Given the description of an element on the screen output the (x, y) to click on. 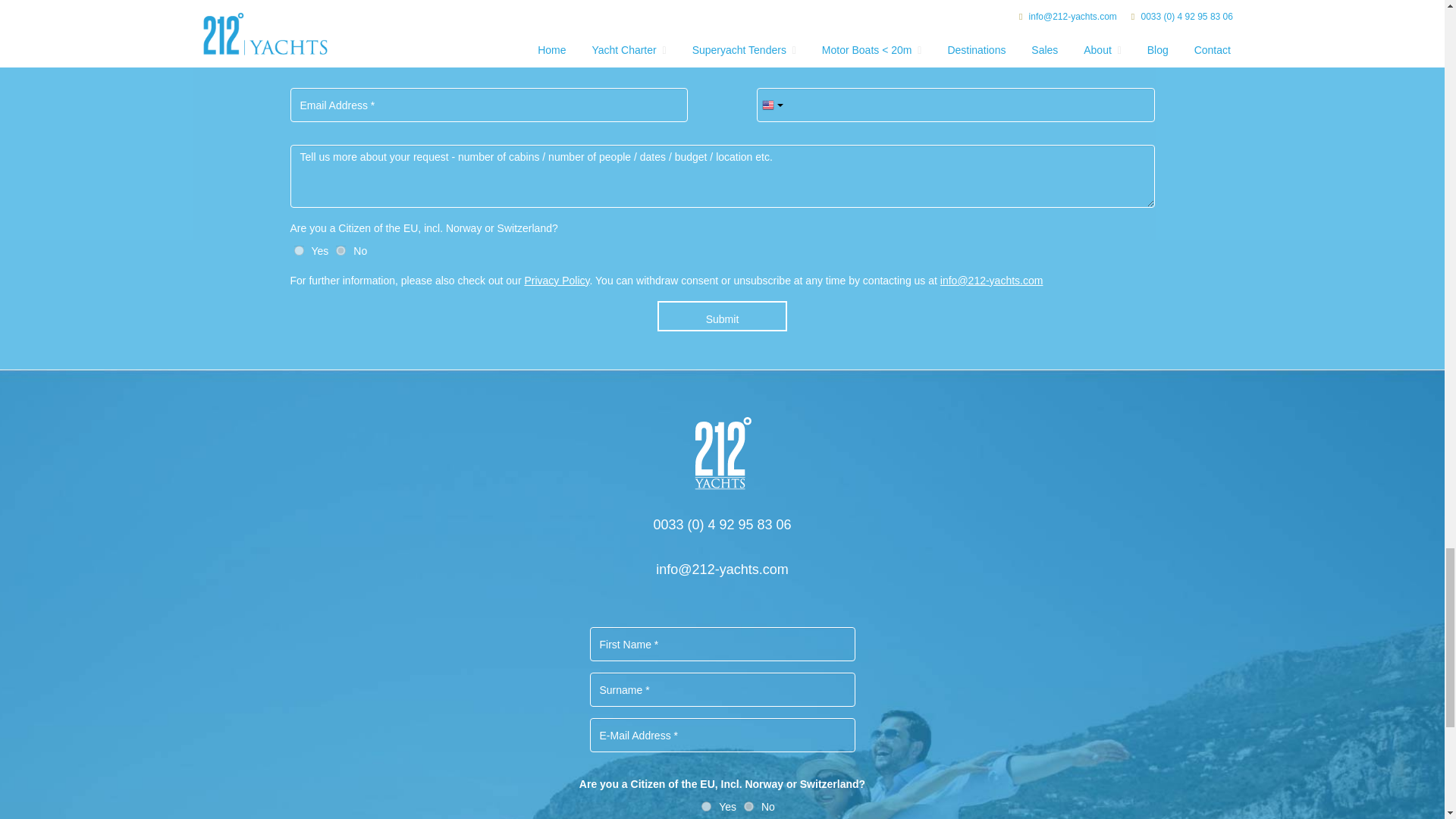
Submit (722, 316)
Yes (299, 250)
Yes (706, 806)
No (341, 250)
No (749, 806)
